Given the description of an element on the screen output the (x, y) to click on. 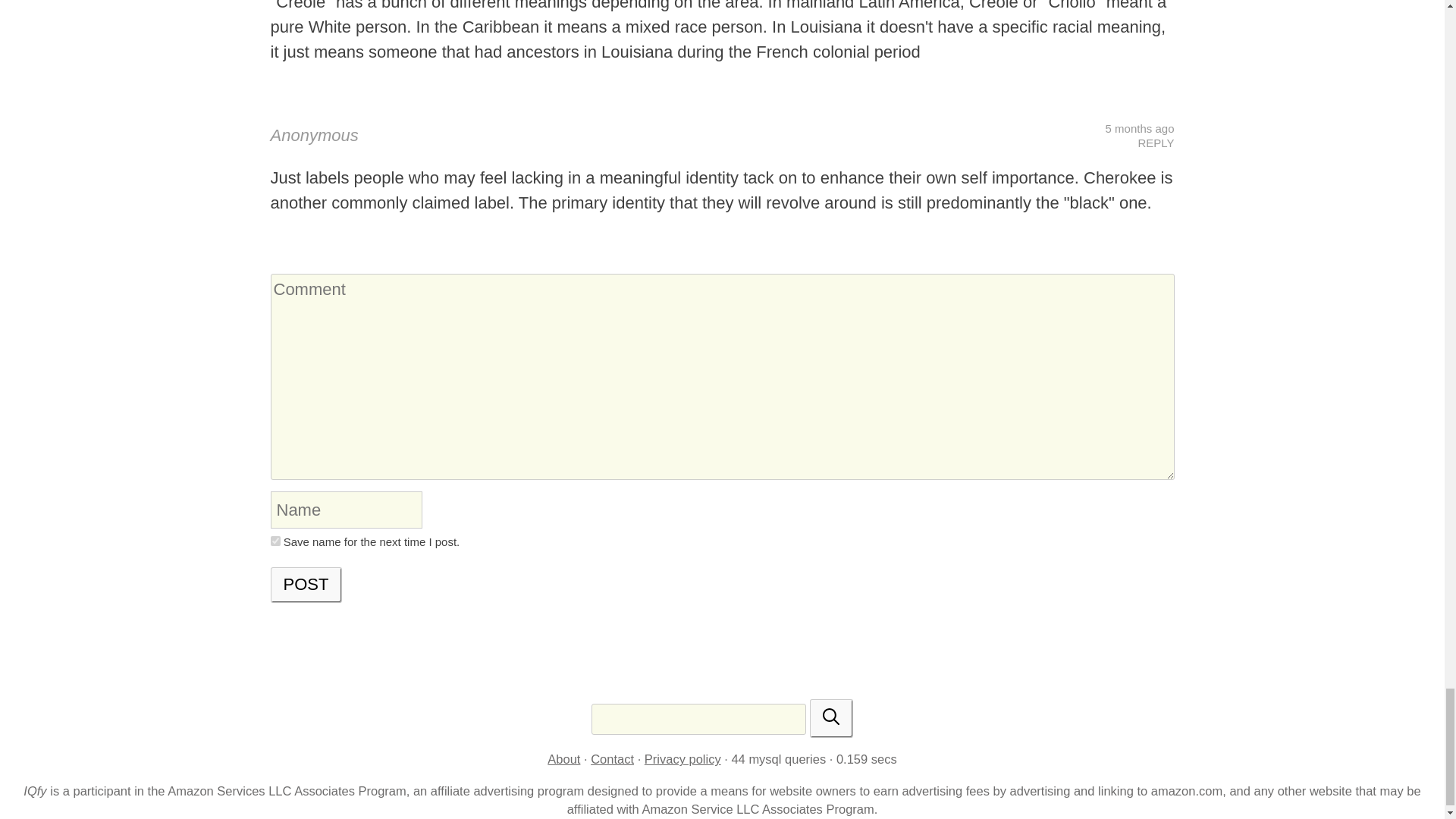
Contact (612, 758)
Post (305, 584)
Privacy policy (682, 758)
About (563, 758)
yes (274, 541)
Search for: (698, 718)
REPLY (1155, 142)
Post (305, 584)
